Given the description of an element on the screen output the (x, y) to click on. 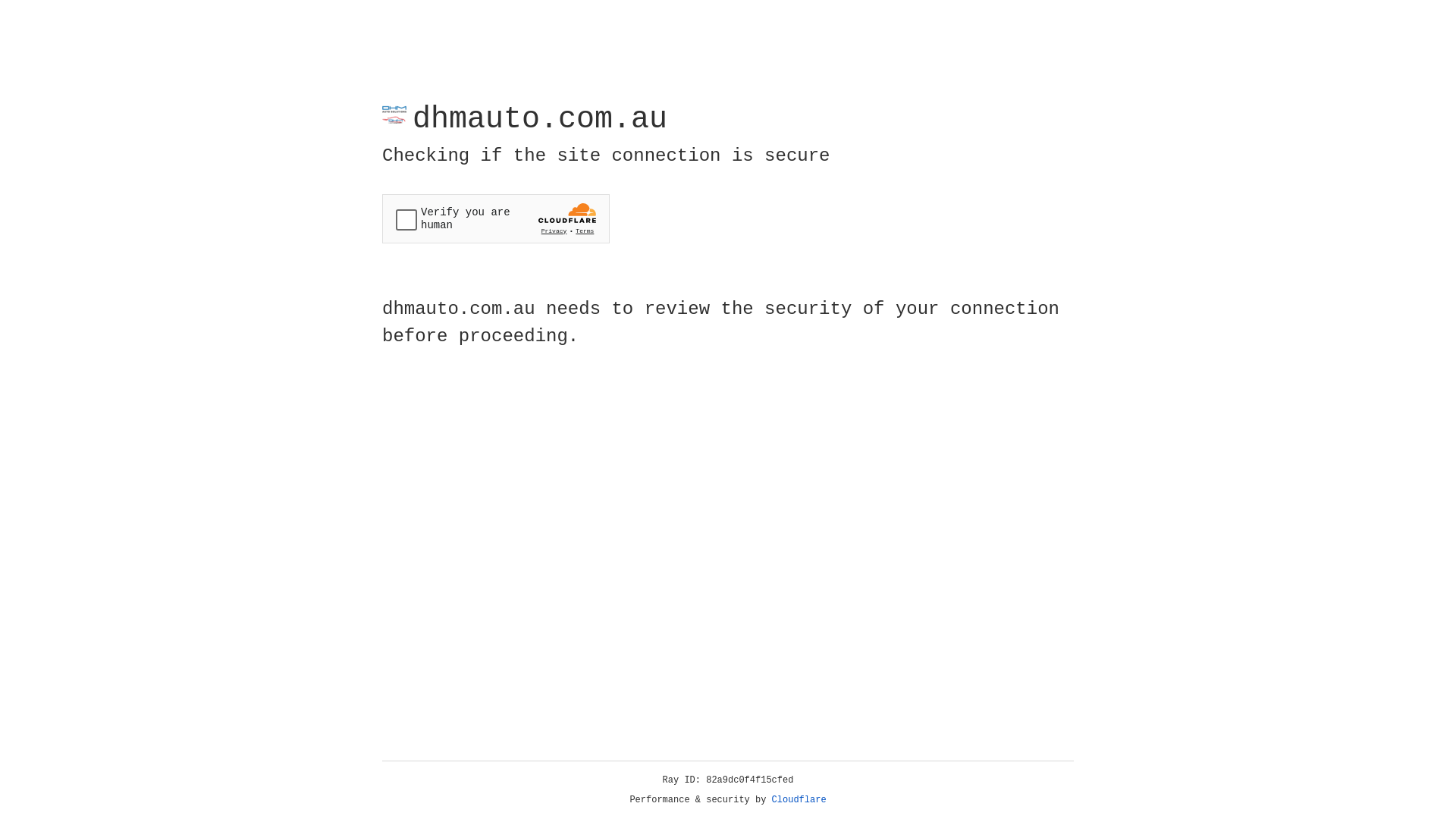
Cloudflare Element type: text (798, 799)
Widget containing a Cloudflare security challenge Element type: hover (495, 218)
